Given the description of an element on the screen output the (x, y) to click on. 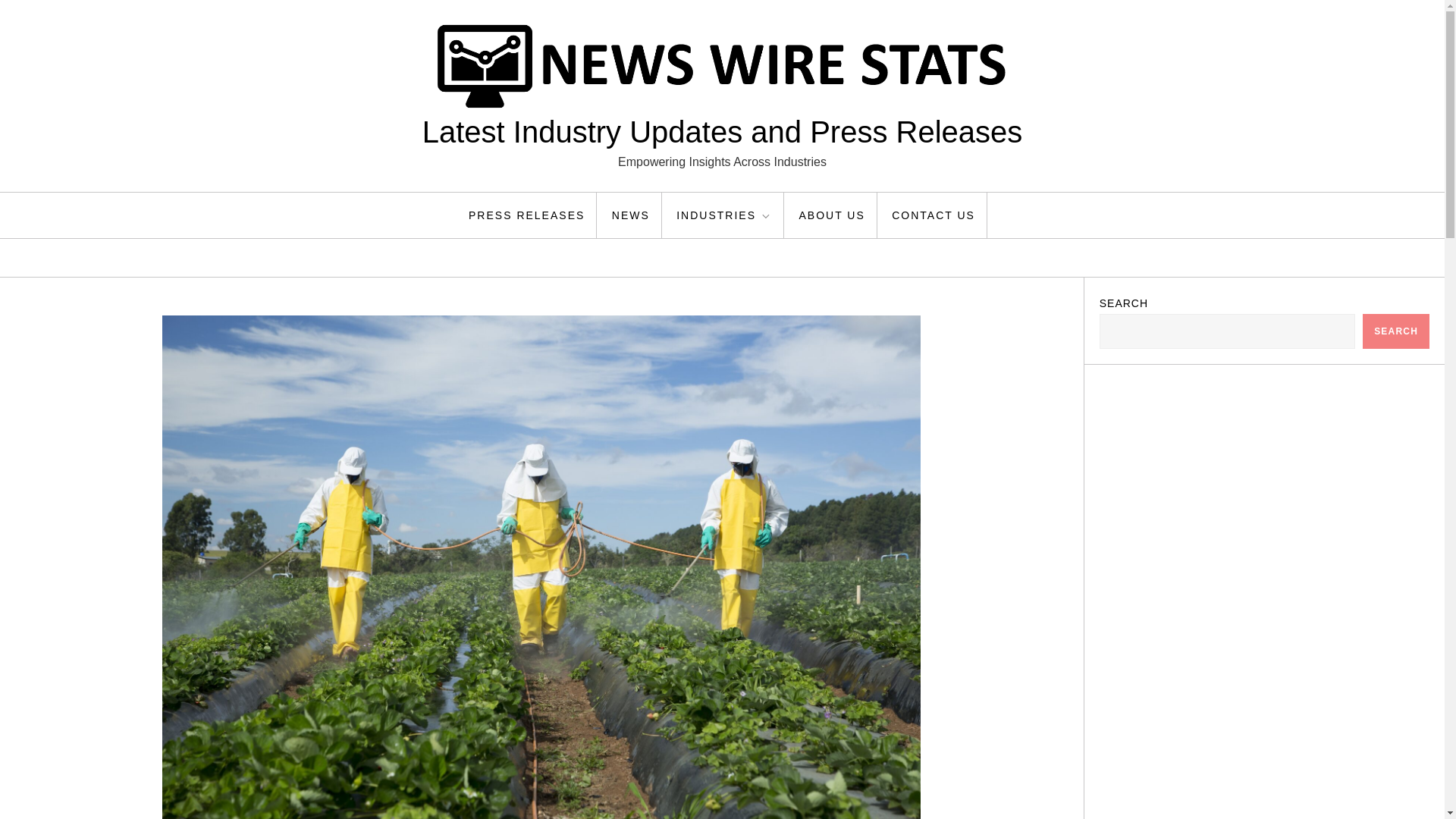
NEWS (630, 215)
PRESS RELEASES (526, 215)
ABOUT US (831, 215)
INDUSTRIES (724, 215)
CONTACT US (933, 215)
SEARCH (1395, 330)
Latest Industry Updates and Press Releases (722, 131)
